Given the description of an element on the screen output the (x, y) to click on. 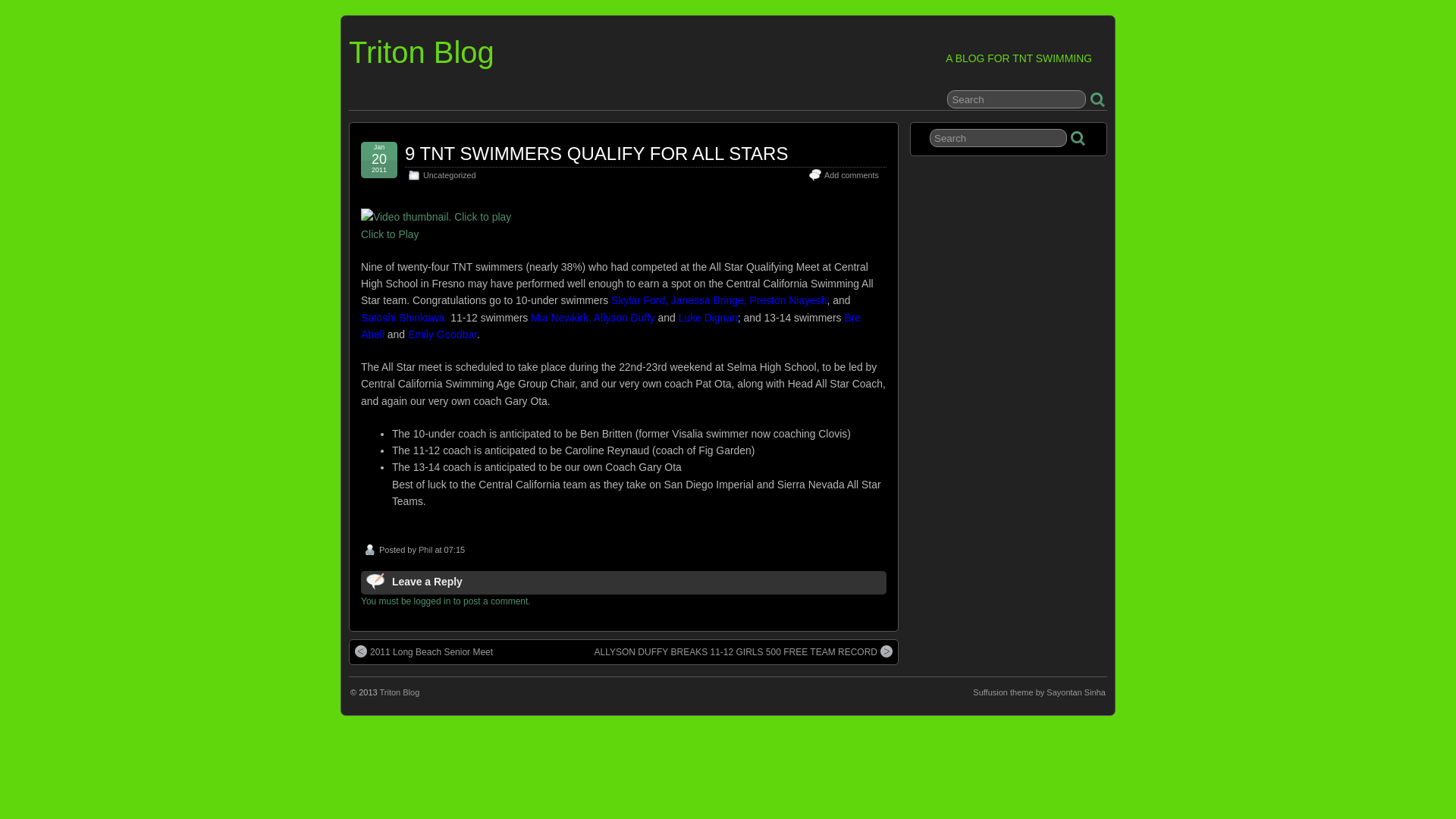
  2011 Long Beach Senior Meet (424, 652)
Suffusion theme by Sayontan Sinha (1038, 691)
Click to play (436, 216)
Uncategorized (449, 174)
Search (1016, 99)
9 TNT SWIMMERS QUALIFY FOR ALL STARS (595, 153)
Add comments (851, 174)
Search (998, 137)
  ALLYSON DUFFY BREAKS 11-12 GIRLS 500 FREE TEAM RECORD (743, 652)
Triton Blog (422, 52)
Search (1016, 99)
9 TNT SWIMMERS QUALIFY FOR ALL STARS (595, 153)
Search (998, 137)
You must be logged in to post a comment. (446, 601)
Phil (425, 549)
